Given the description of an element on the screen output the (x, y) to click on. 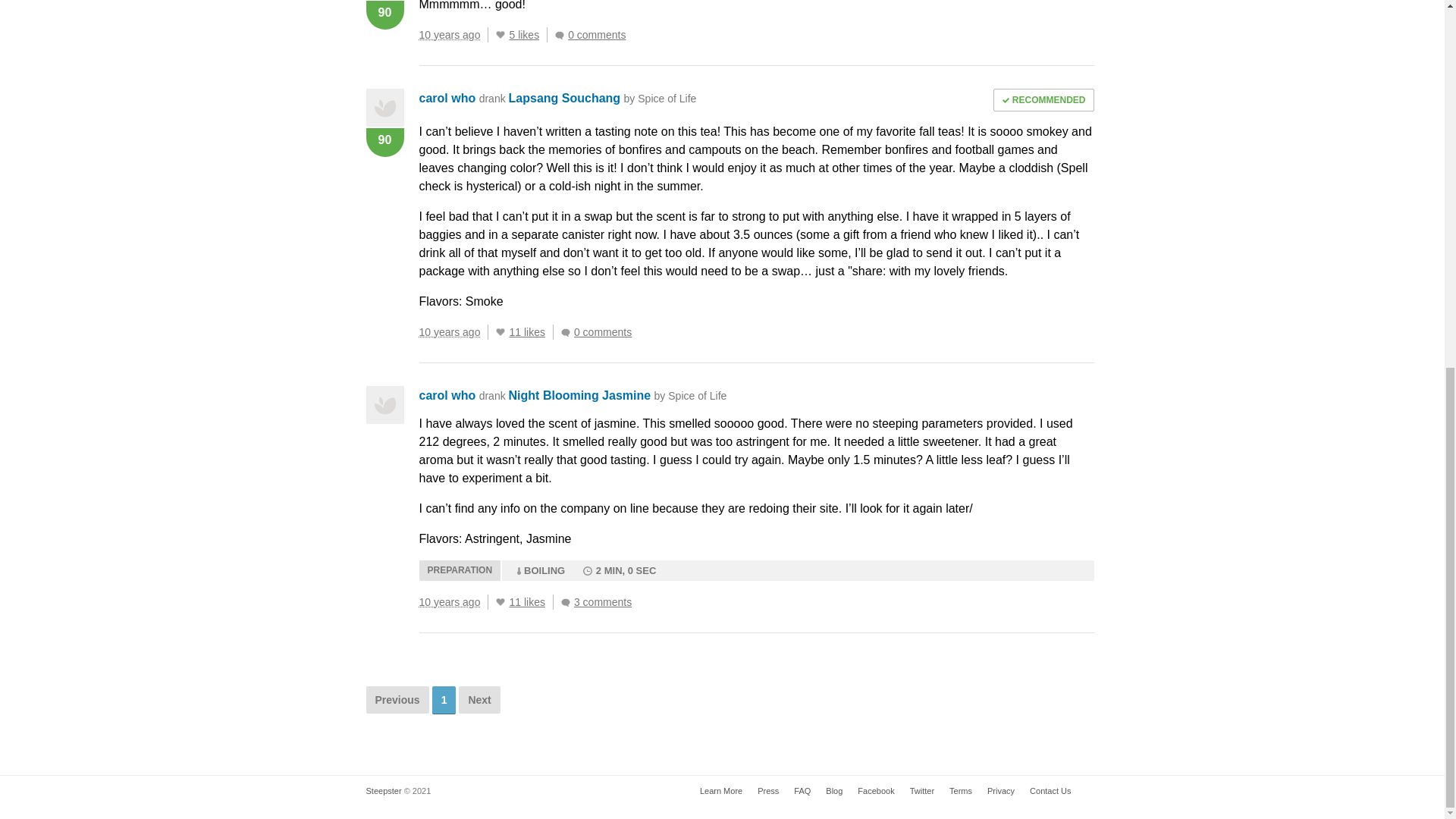
0 comments (593, 34)
Take a Tour of Steepster (721, 790)
I Like This (500, 34)
5 likes (527, 34)
Like This (500, 602)
Like This (500, 34)
2014-10-13T18:41:59Z (449, 331)
Like This (500, 331)
carol who (447, 97)
Behind the scenes info on Steepster (767, 790)
10 years ago (453, 34)
2014-09-07T22:32:47Z (449, 602)
Link to the Official Steepster Blog (834, 790)
2014-10-30T22:40:58Z (449, 34)
